Given the description of an element on the screen output the (x, y) to click on. 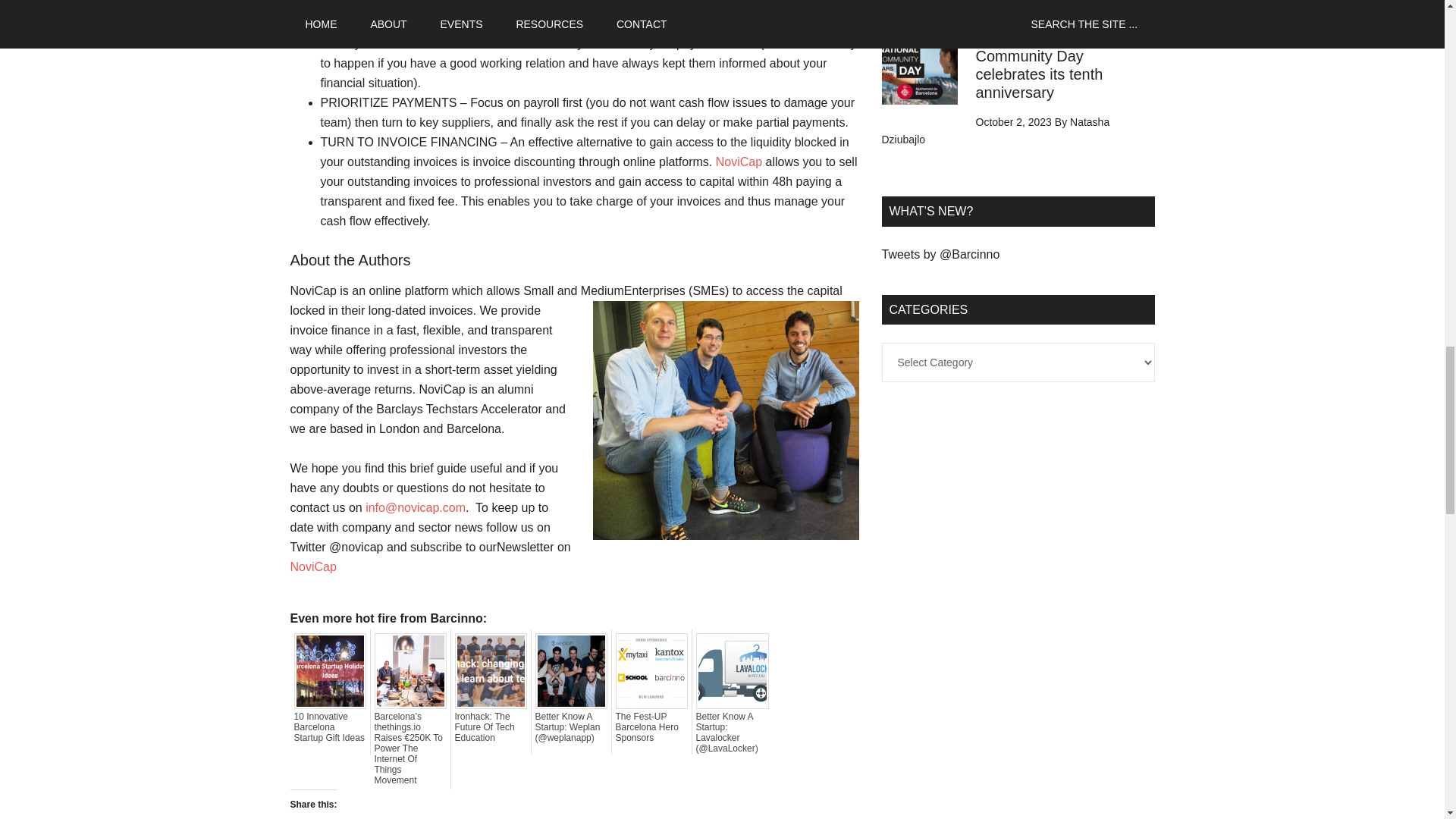
NoviCap (312, 566)
10 Innovative Barcelona Startup Gift Ideas (330, 726)
The Fest-UP Barcelona Hero Sponsors (651, 726)
NoviCap (738, 161)
Ironhack: The Future Of Tech Education (490, 726)
